Given the description of an element on the screen output the (x, y) to click on. 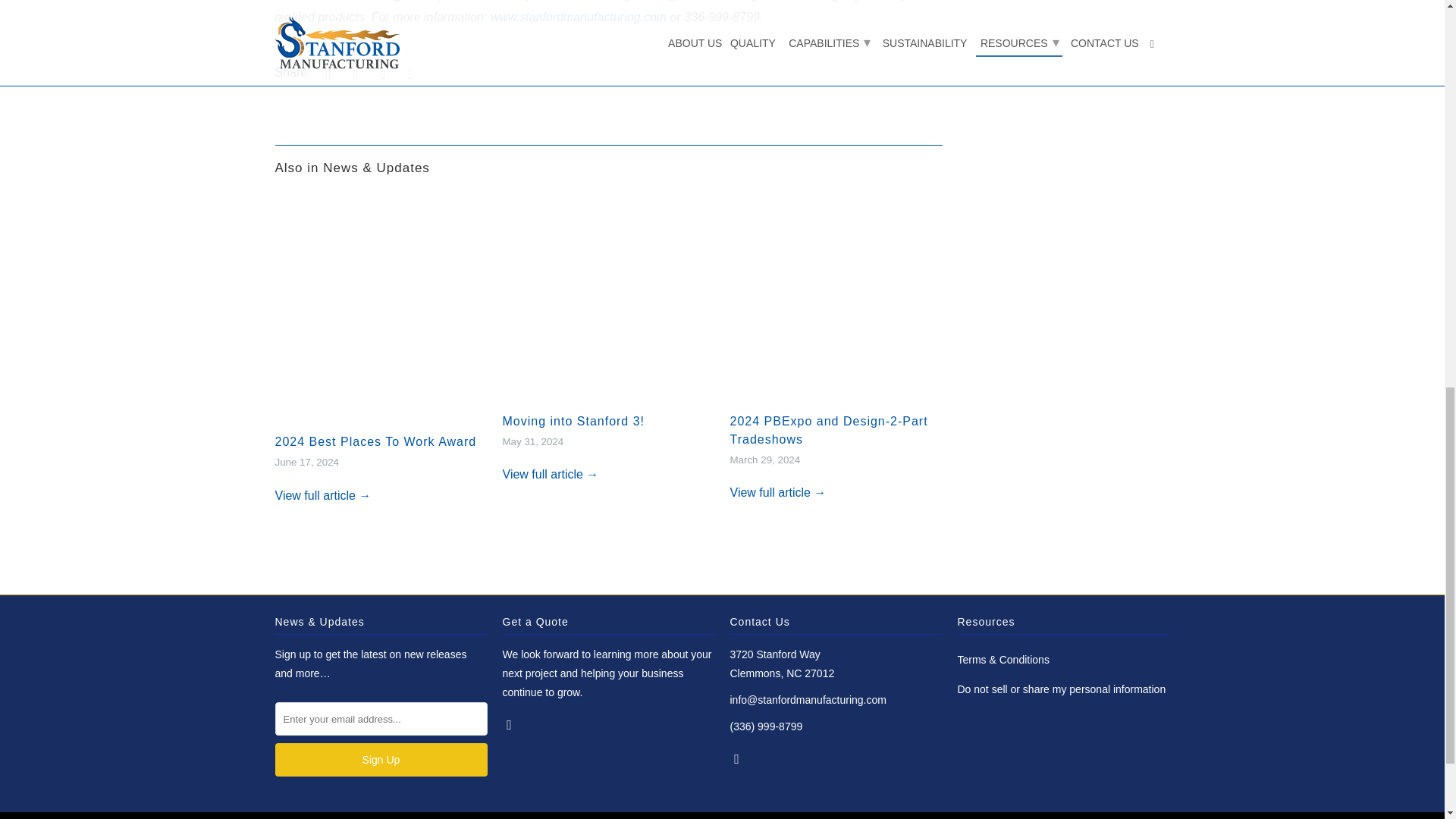
2024 Best Places To Work Award (375, 440)
2024 Best Places To Work Award (375, 440)
Share this on Facebook (352, 73)
www.stanfordmanufacturing.com (578, 16)
Share this on Twitter (325, 73)
Share this on Pinterest (381, 73)
Email this to a friend (408, 73)
Moving into Stanford 3! (573, 420)
2024 Best Places To Work Award (323, 495)
Sign Up (380, 759)
2024 PBExpo and Design-2-Part Tradeshows (835, 302)
Moving into Stanford 3! (573, 420)
2024 PBExpo and Design-2-Part Tradeshows (777, 492)
Moving into Stanford 3! (608, 302)
Stanford Manufacturing on LinkedIn (510, 724)
